Given the description of an element on the screen output the (x, y) to click on. 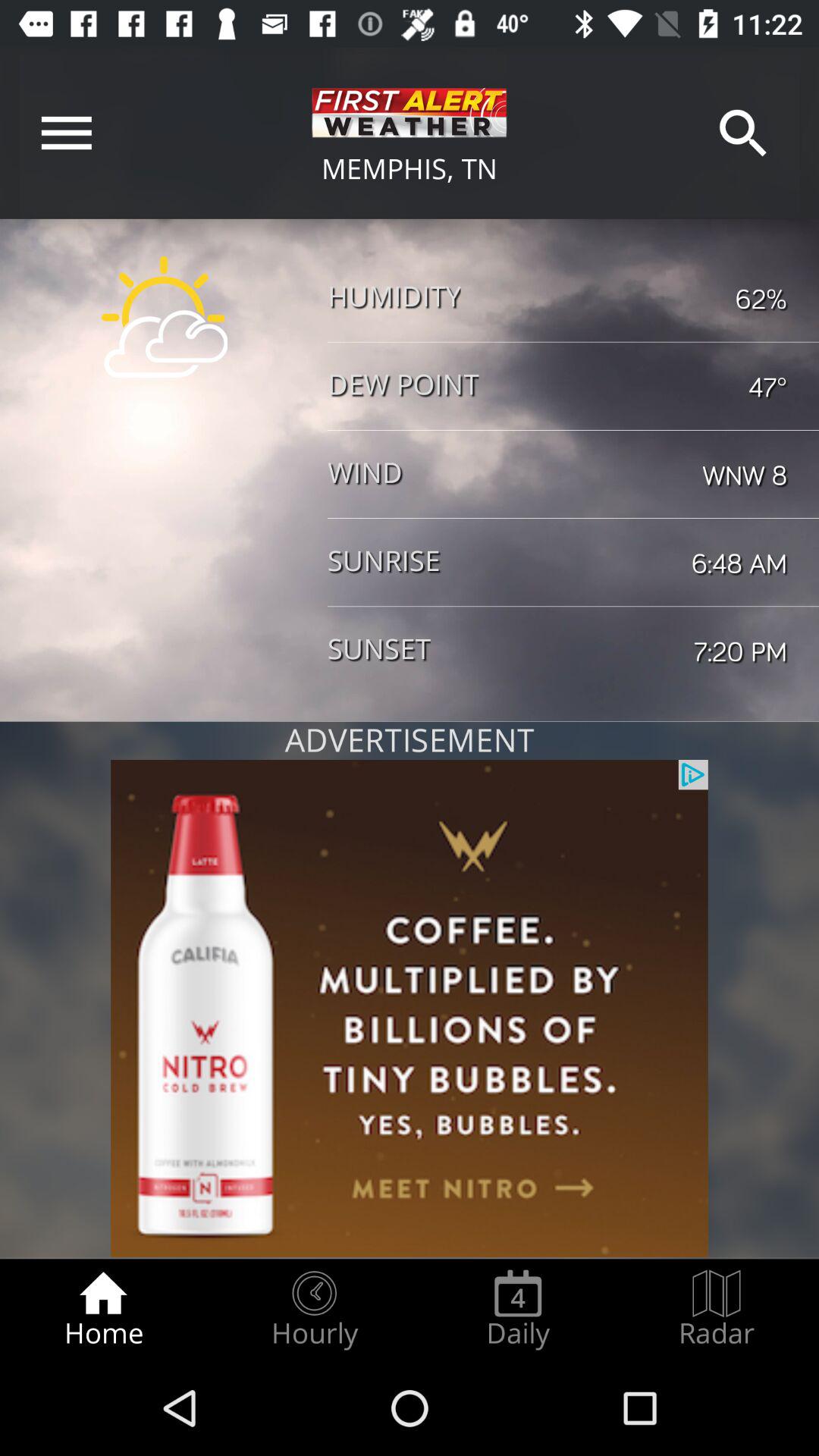
flip to daily icon (518, 1309)
